Given the description of an element on the screen output the (x, y) to click on. 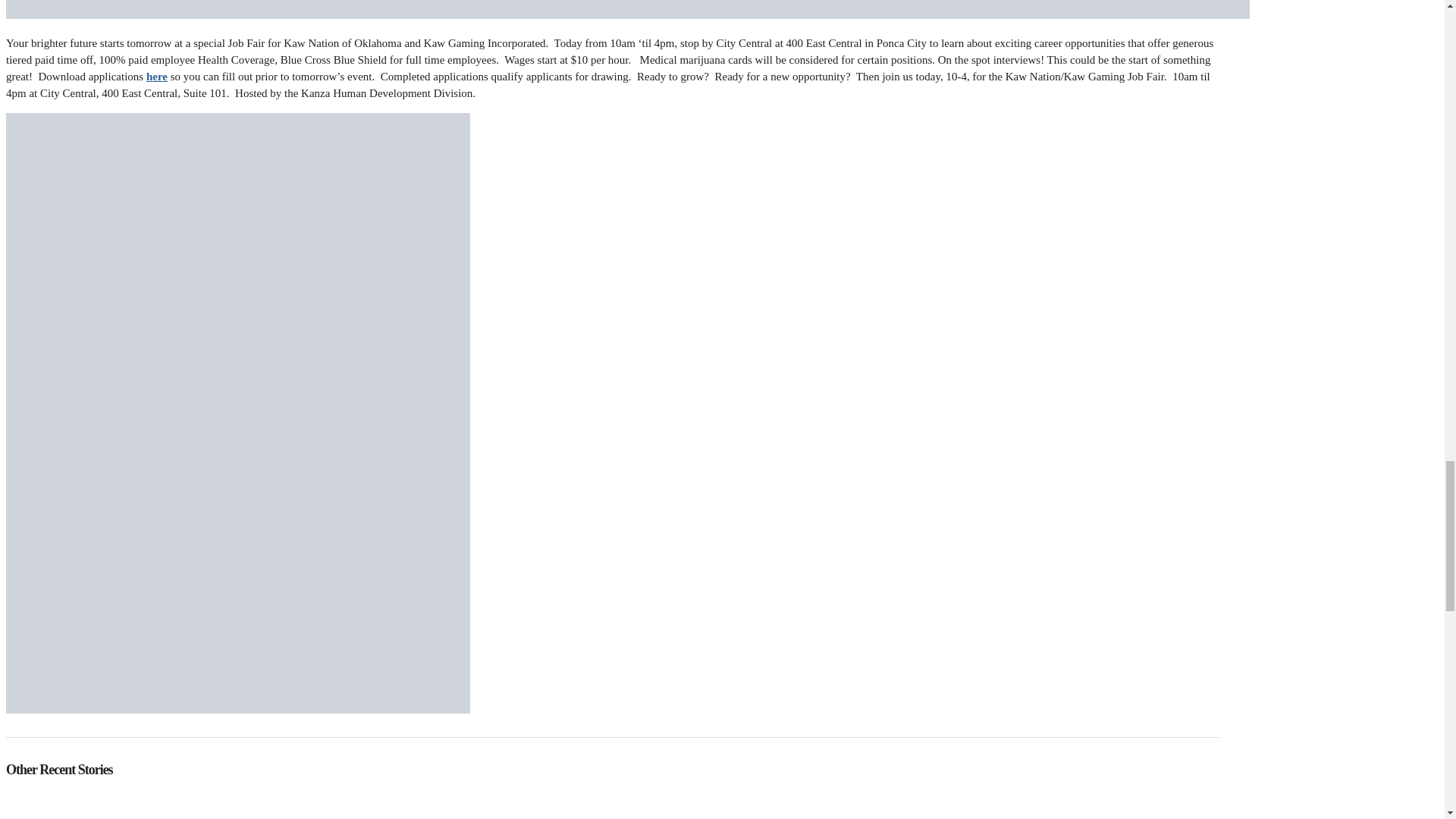
Students Return from Cooperative Youth Leadership Camp (611, 804)
